Given the description of an element on the screen output the (x, y) to click on. 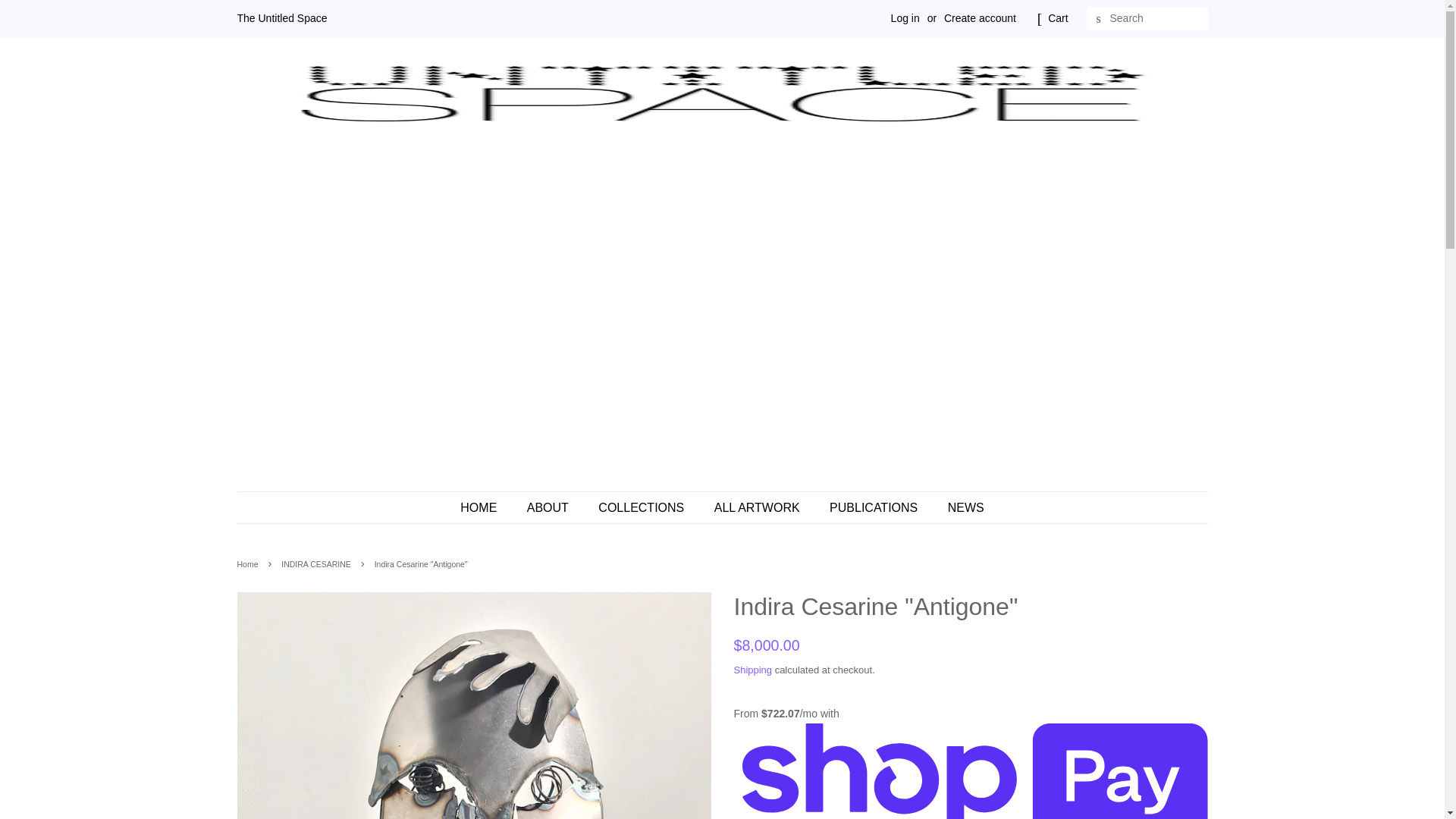
ABOUT (549, 507)
The Untitled Space (280, 18)
Create account (979, 18)
PUBLICATIONS (875, 507)
Back to the frontpage (248, 563)
INDIRA CESARINE (318, 563)
Shipping (753, 669)
NEWS (960, 507)
HOME (486, 507)
Log in (905, 18)
Home (248, 563)
SEARCH (1097, 18)
Cart (1057, 18)
COLLECTIONS (642, 507)
ALL ARTWORK (759, 507)
